Given the description of an element on the screen output the (x, y) to click on. 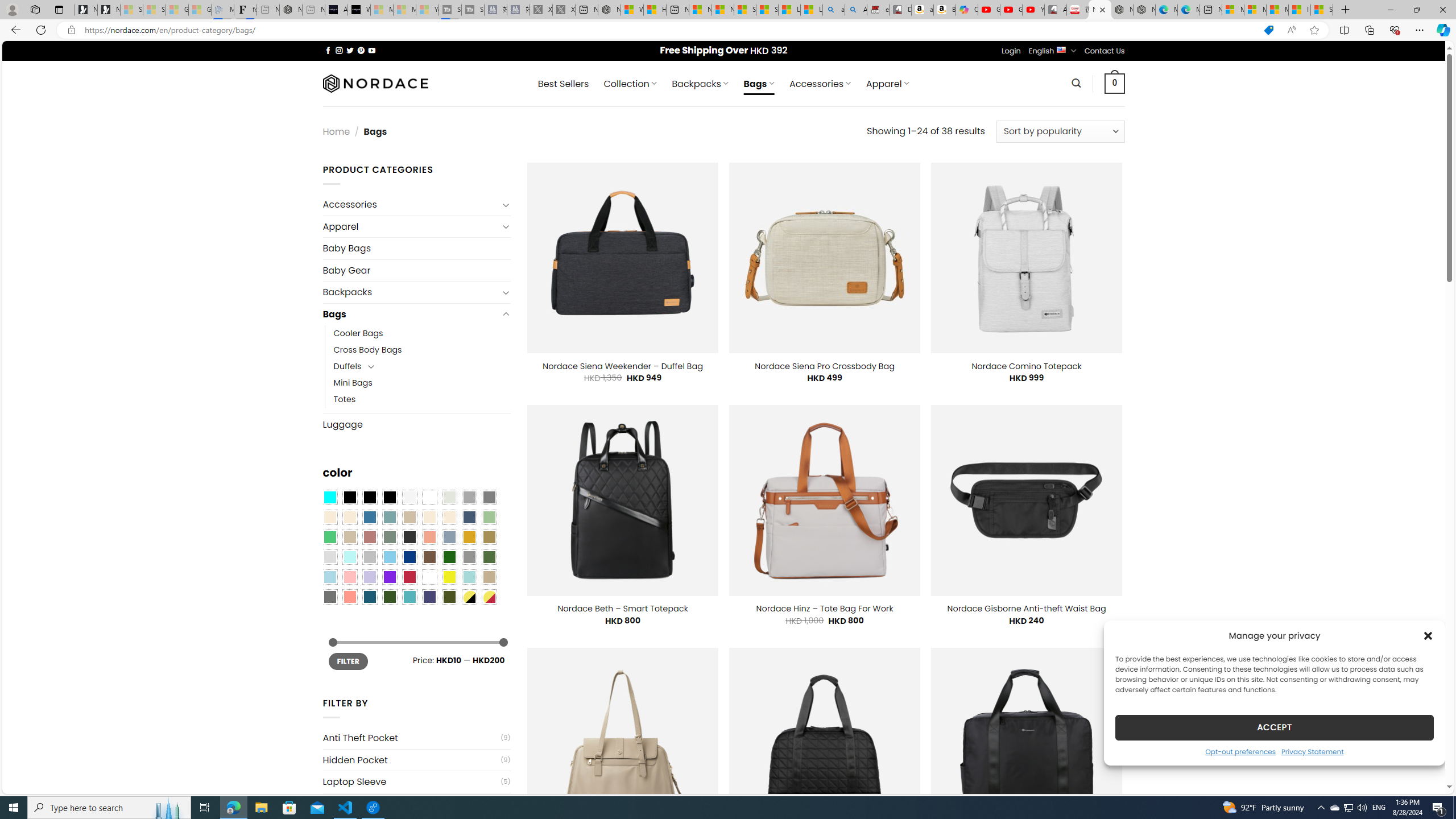
Clear (429, 497)
Aqua (468, 577)
Yellow-Black (468, 596)
Follow on Facebook (327, 49)
Contact Us (1104, 50)
Cooler Bags (422, 333)
 0  (1115, 83)
Microsoft Start - Sleeping (404, 9)
ACCEPT (1274, 727)
I Gained 20 Pounds of Muscle in 30 Days! | Watch (1300, 9)
Nordace (374, 83)
Add this page to favorites (Ctrl+D) (1314, 29)
Huge shark washes ashore at New York City beach | Watch (655, 9)
FILTER (347, 661)
Login (1010, 50)
